Given the description of an element on the screen output the (x, y) to click on. 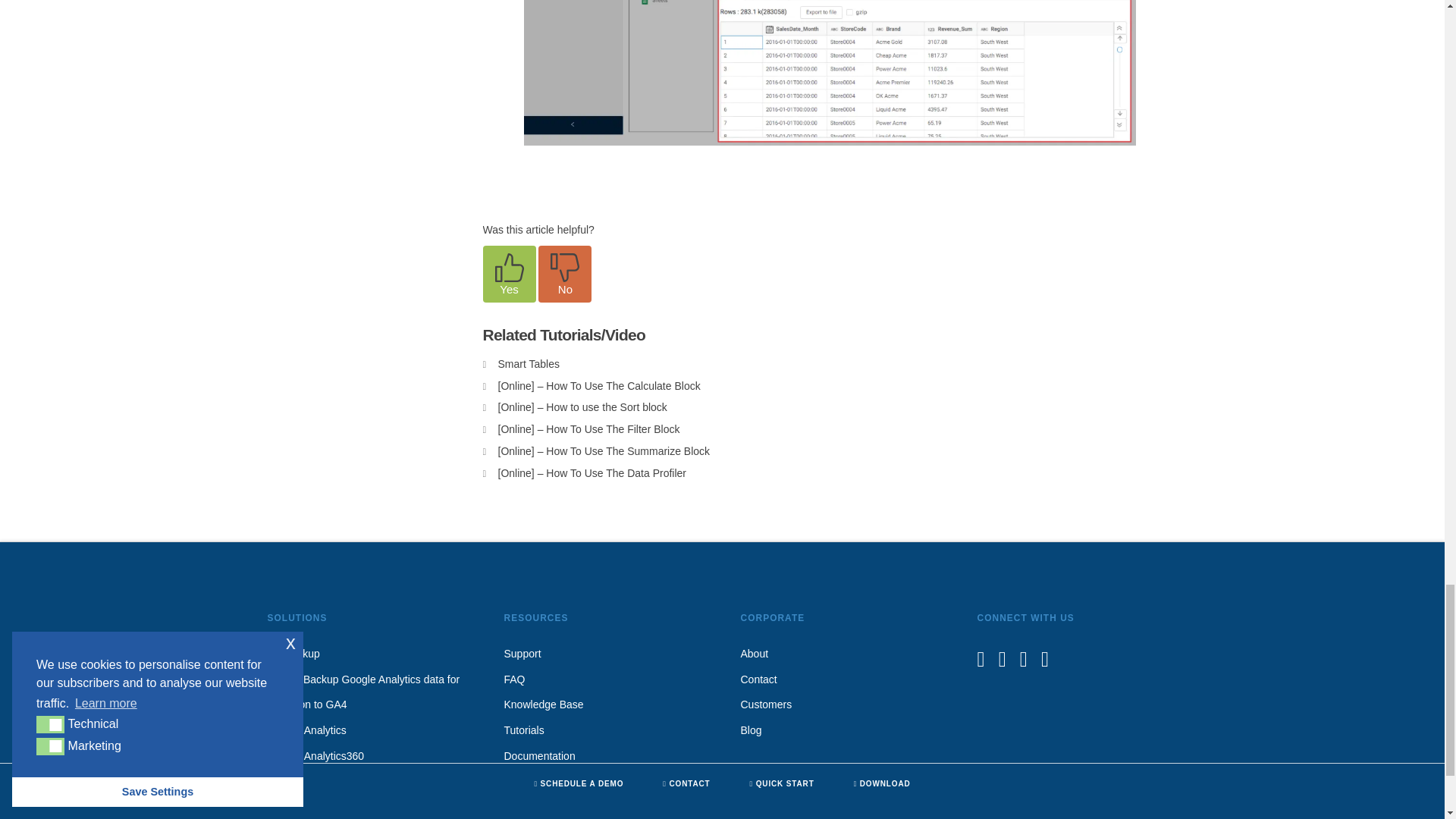
Smart Tables (528, 363)
